Given the description of an element on the screen output the (x, y) to click on. 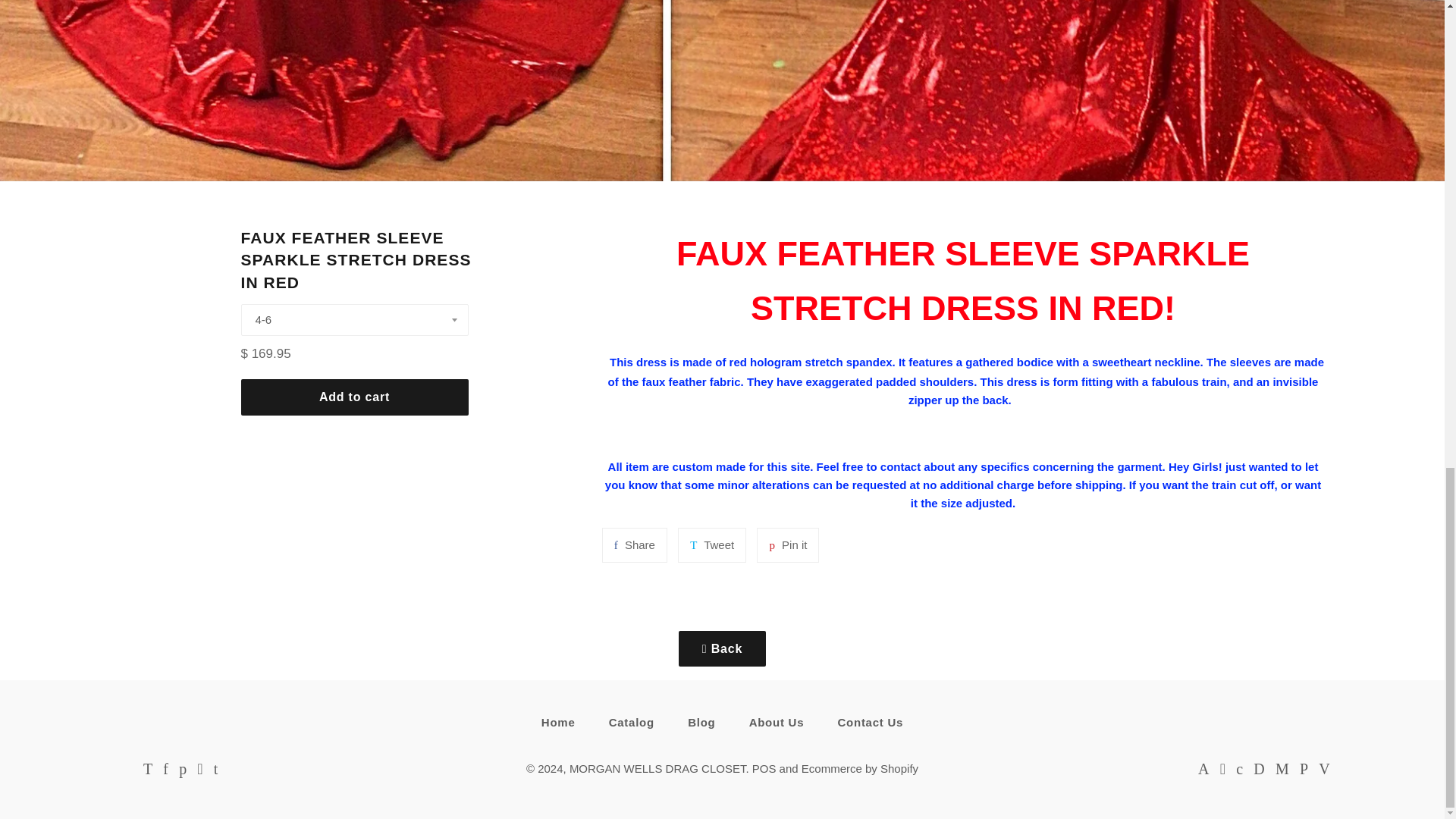
Tweet on Twitter (711, 544)
Add to cart (354, 397)
Pin on Pinterest (634, 544)
Share on Facebook (787, 544)
